Given the description of an element on the screen output the (x, y) to click on. 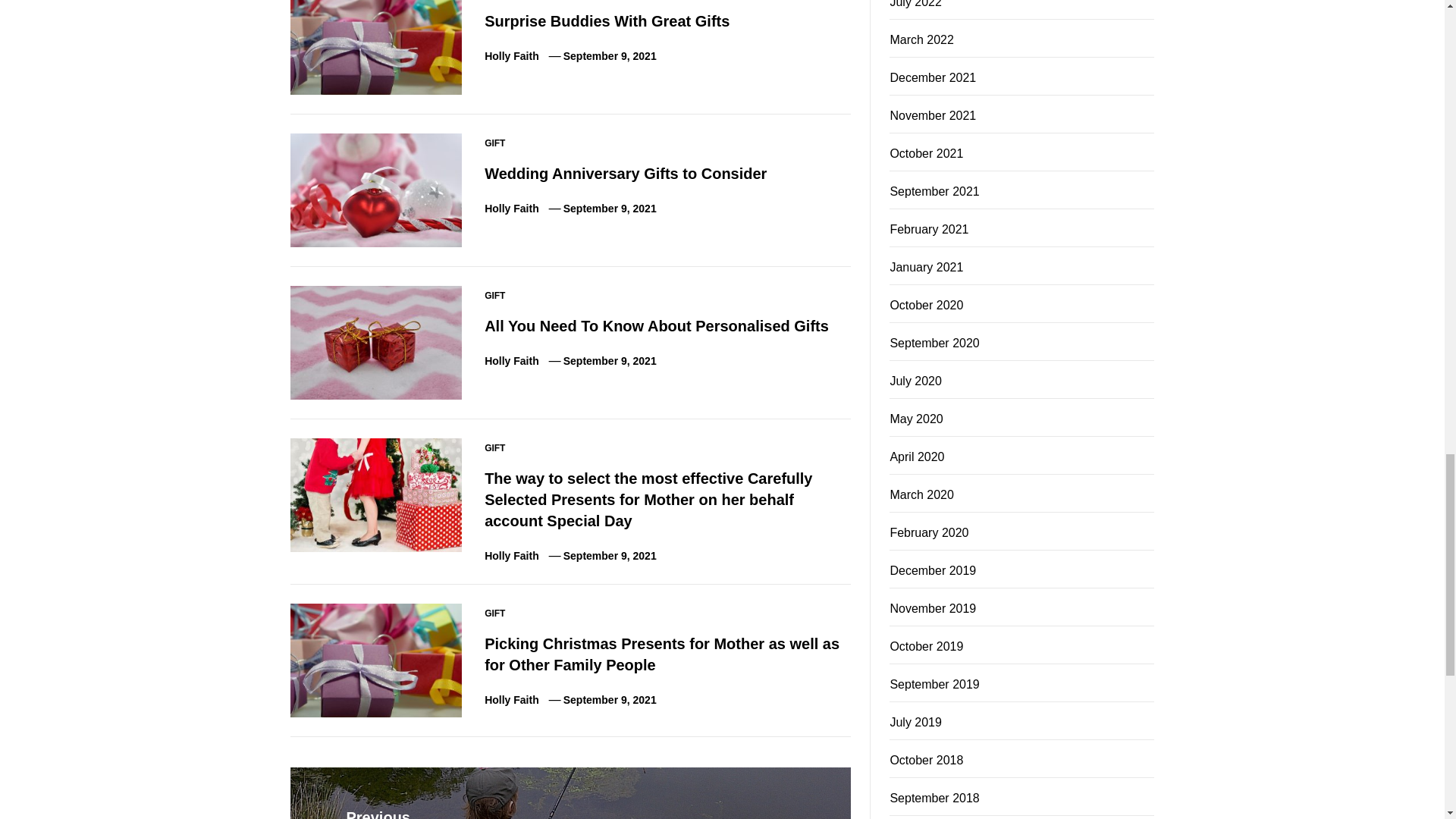
GIFT (494, 142)
Surprise Buddies With Great Gifts (606, 21)
GIFT (494, 295)
All You Need To Know About Personalised Gifts (656, 325)
September 9, 2021 (609, 208)
September 9, 2021 (609, 55)
Holly Faith (511, 55)
Wedding Anniversary Gifts to Consider (625, 173)
Holly Faith (511, 208)
